Given the description of an element on the screen output the (x, y) to click on. 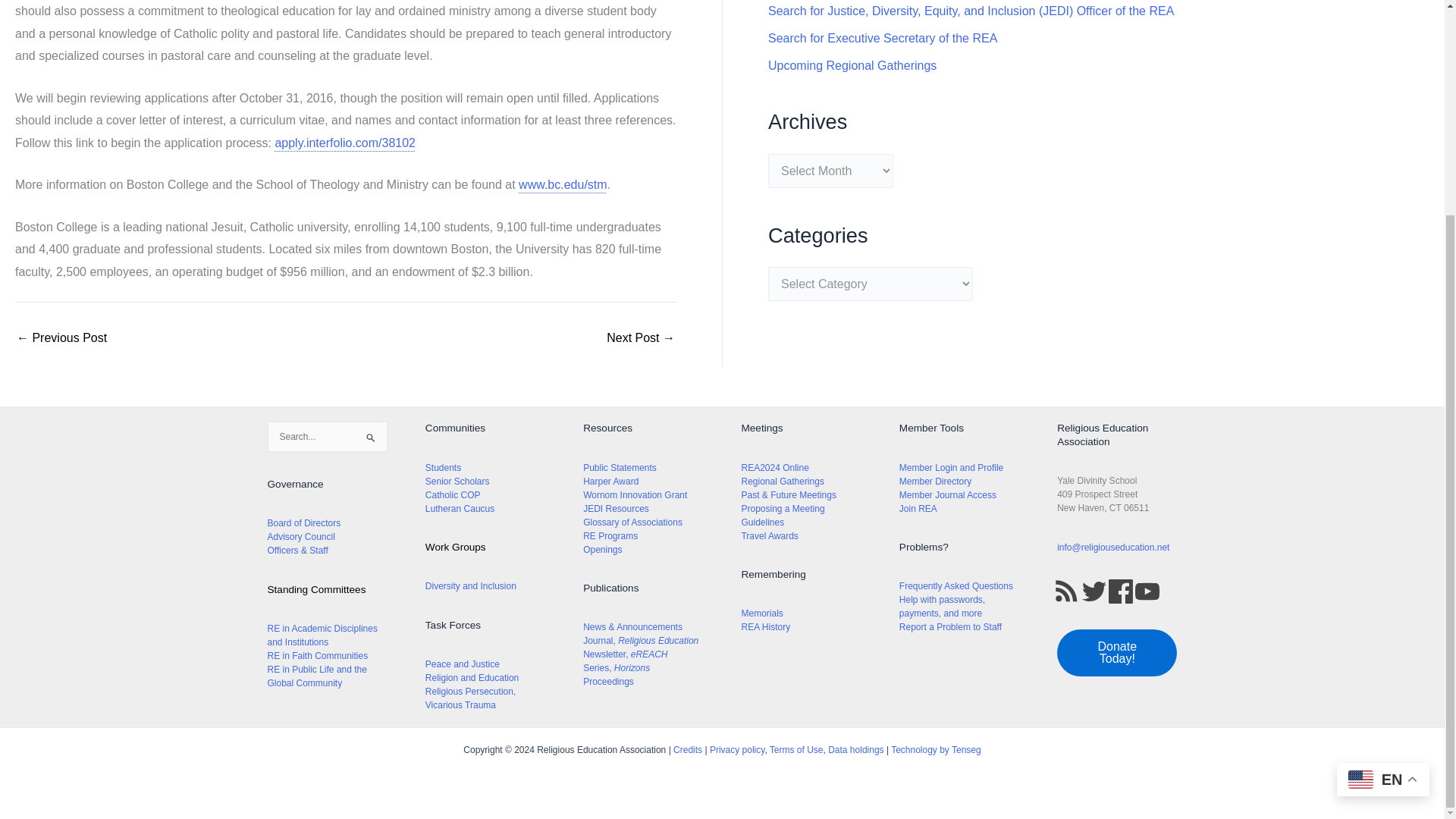
RSS Feed (1066, 591)
Facebook (1120, 591)
Hotel block about to close (61, 337)
Twitter (1093, 591)
YouTube (1146, 591)
Spiritual Formation, LSTC Chicago (641, 337)
